Given the description of an element on the screen output the (x, y) to click on. 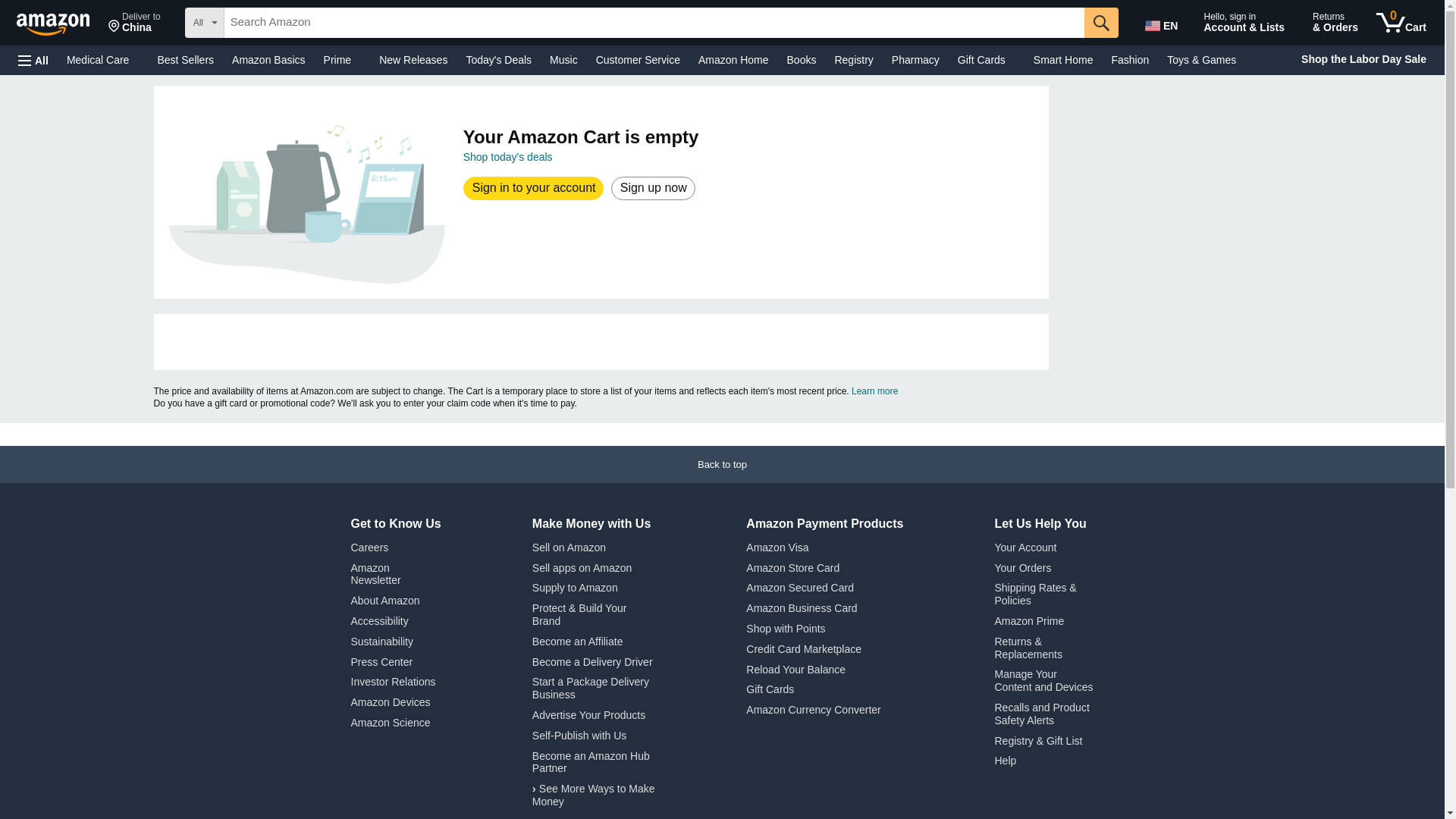
Registry (134, 22)
Amazon Home (853, 59)
Go (732, 59)
Smart Home (1401, 22)
Prime (1101, 22)
Books (1063, 59)
Today's Deals (342, 59)
